Given the description of an element on the screen output the (x, y) to click on. 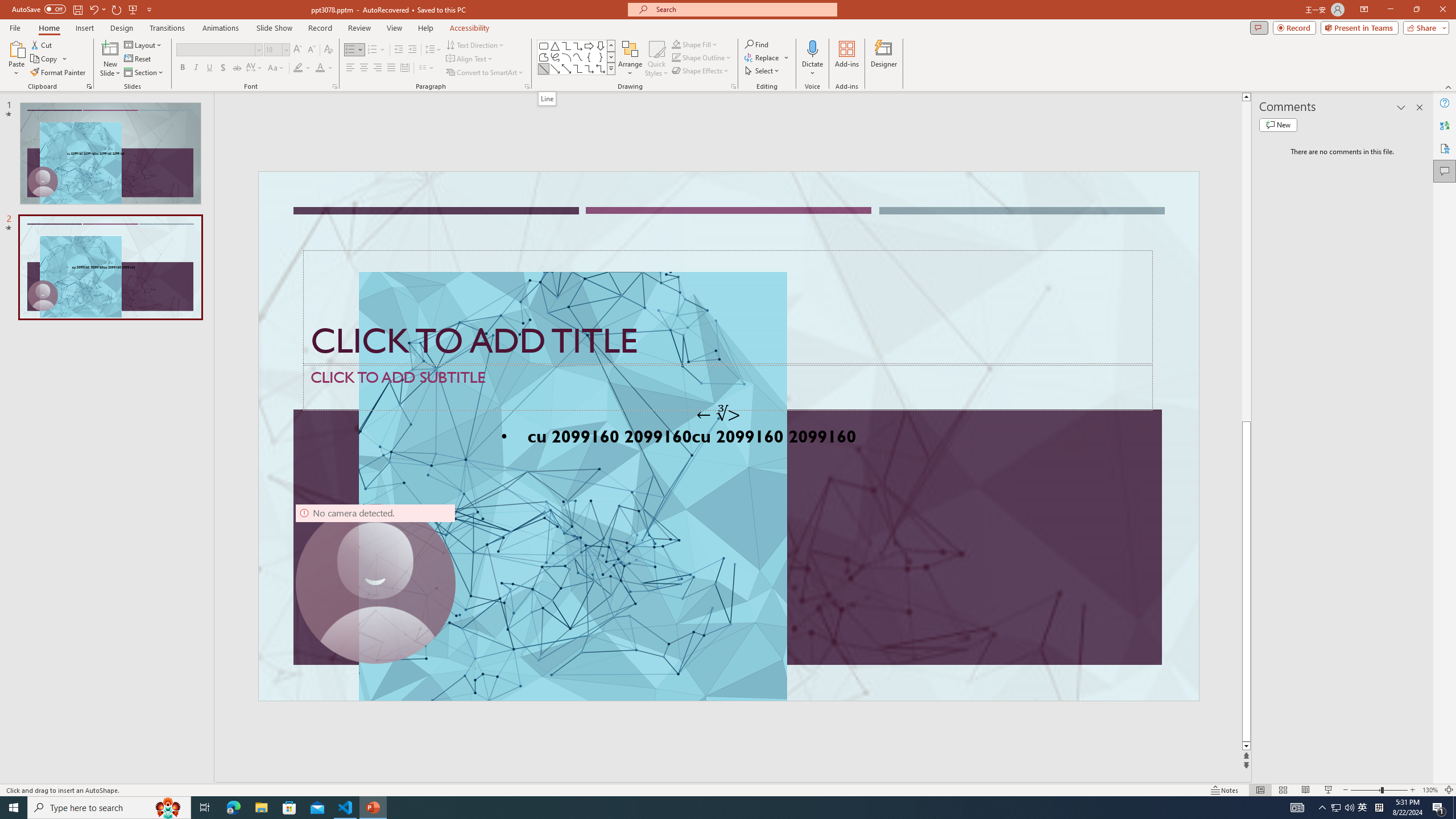
Bullets (349, 49)
Save (77, 9)
Class: NetUIImage (610, 68)
Office Clipboard... (88, 85)
Task Pane Options (1400, 107)
Copy (49, 58)
Share (1423, 27)
Zoom Out (1365, 790)
Quick Access Toolbar (82, 9)
Page up (1245, 261)
Help (1444, 102)
Connector: Elbow Arrow (589, 68)
Font (215, 49)
Curve (577, 57)
Font Size (276, 49)
